Given the description of an element on the screen output the (x, y) to click on. 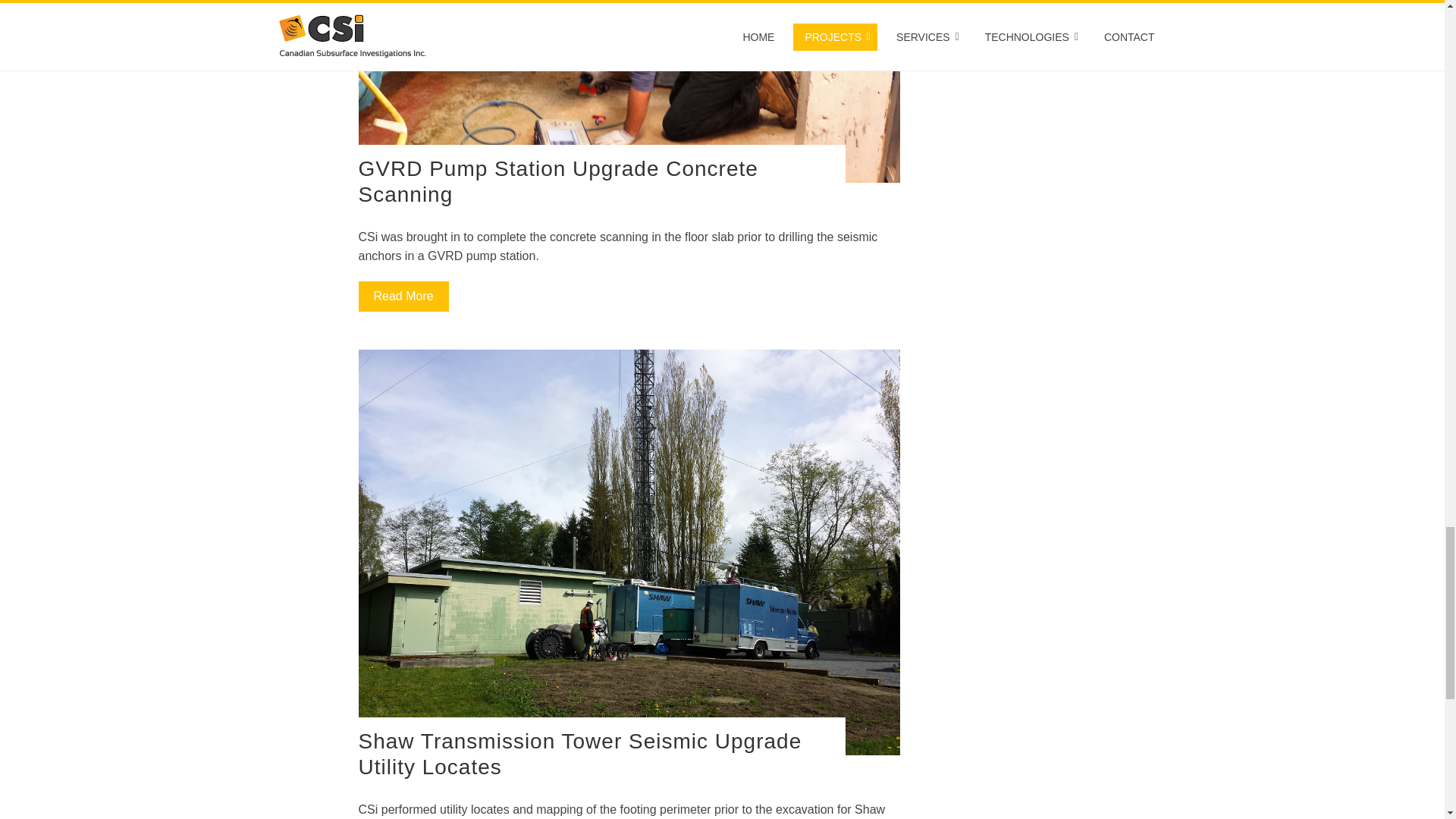
Shaw Transmission Tower Seismic Upgrade Utility Locates (580, 753)
Read More (403, 296)
GVRD Pump Station Upgrade Concrete Scanning (557, 181)
